Given the description of an element on the screen output the (x, y) to click on. 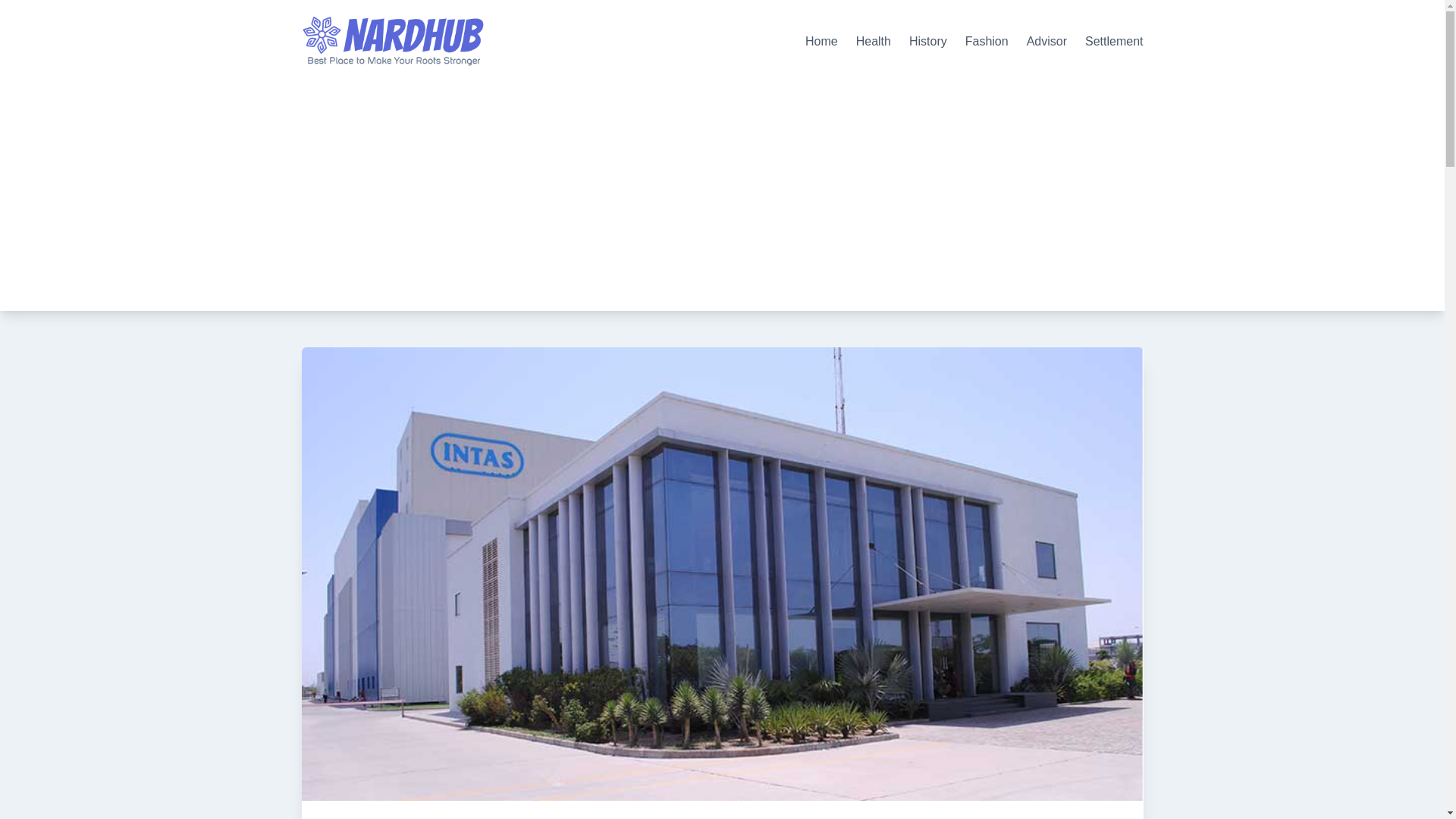
Home (821, 41)
History (927, 41)
Settlement (1113, 41)
Fashion (987, 41)
Advisor (1046, 41)
Health (873, 41)
